Given the description of an element on the screen output the (x, y) to click on. 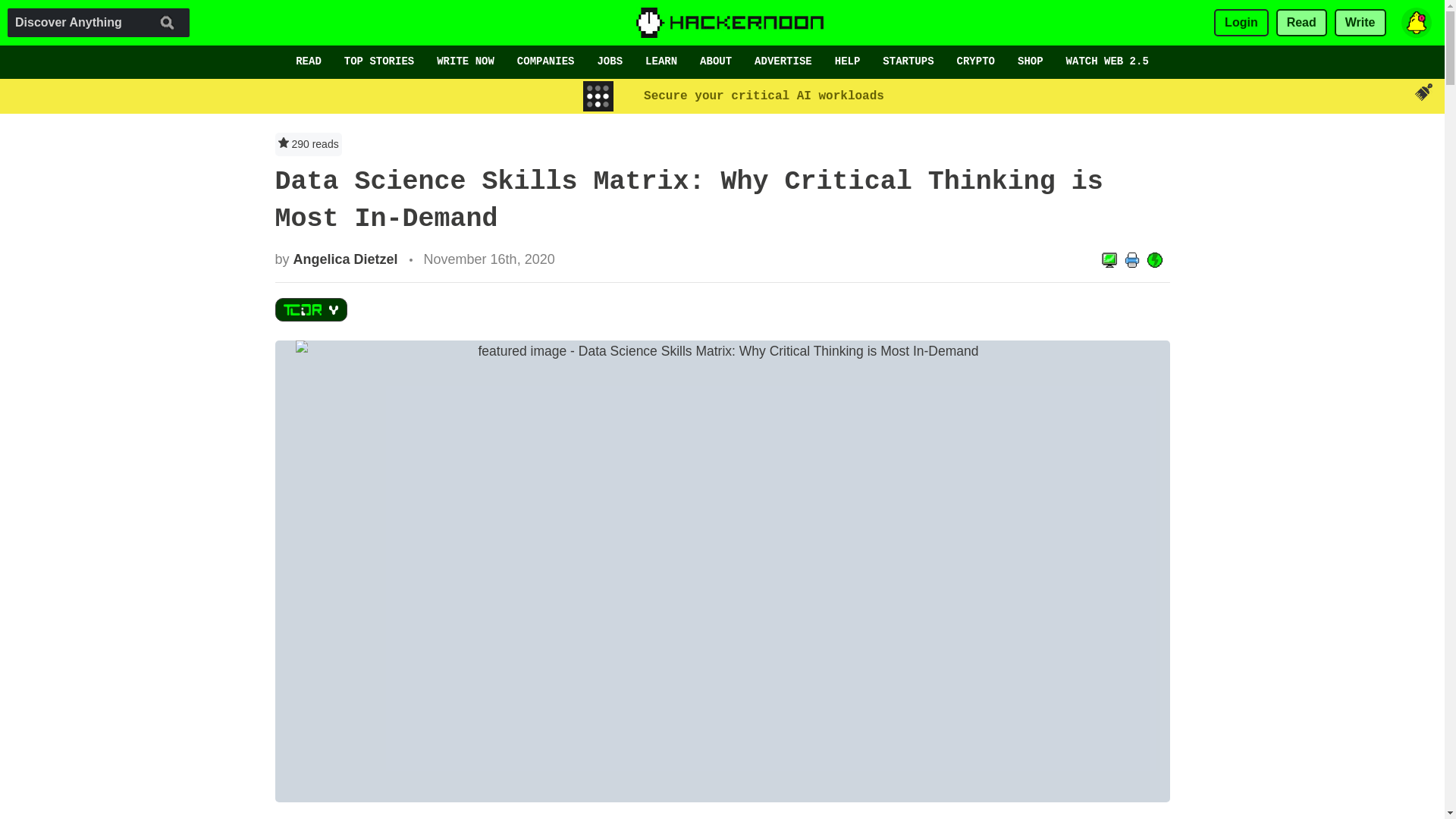
Login (1241, 22)
Write (1360, 22)
Read (1301, 22)
